Given the description of an element on the screen output the (x, y) to click on. 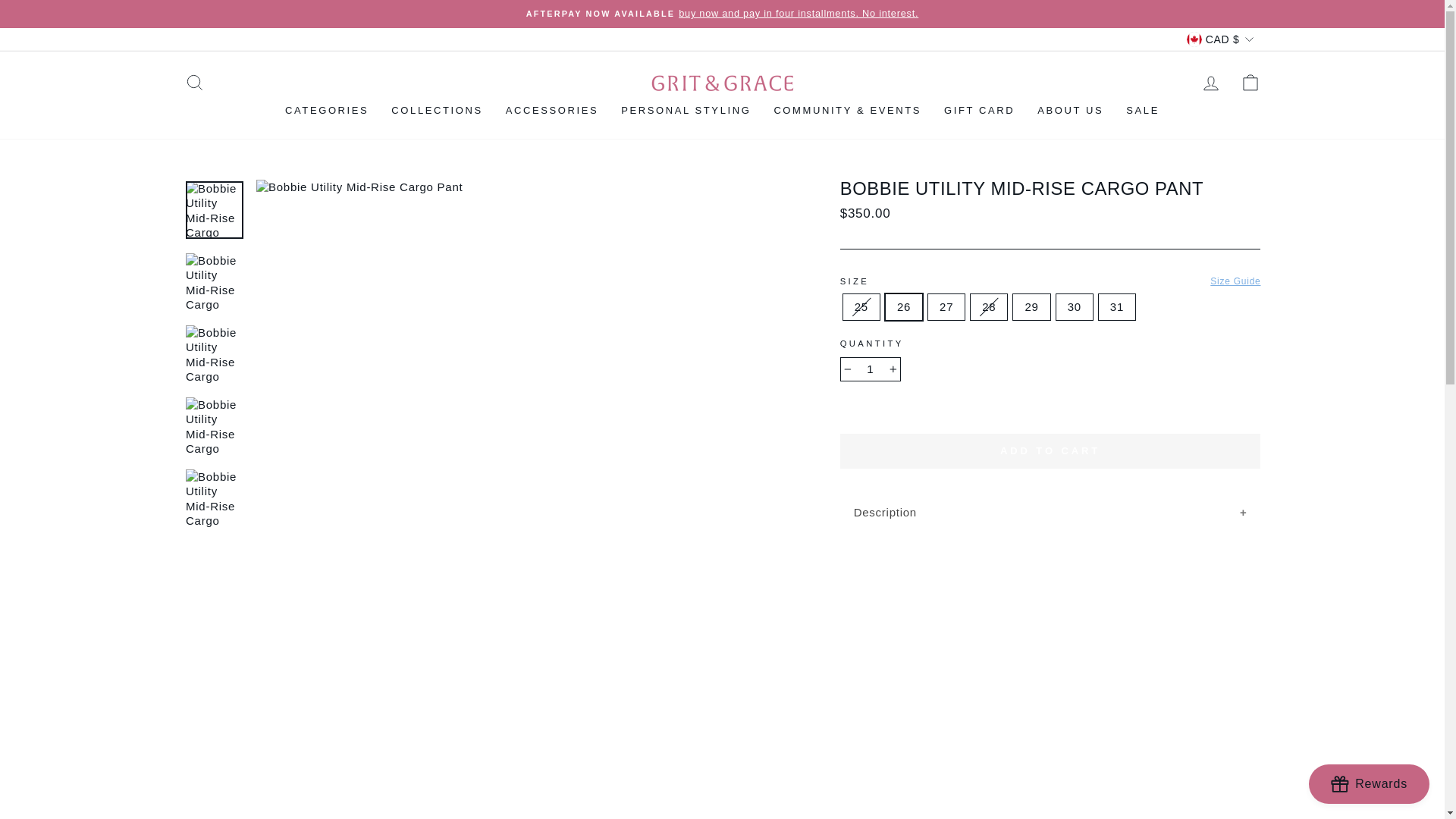
1 (870, 369)
